Given the description of an element on the screen output the (x, y) to click on. 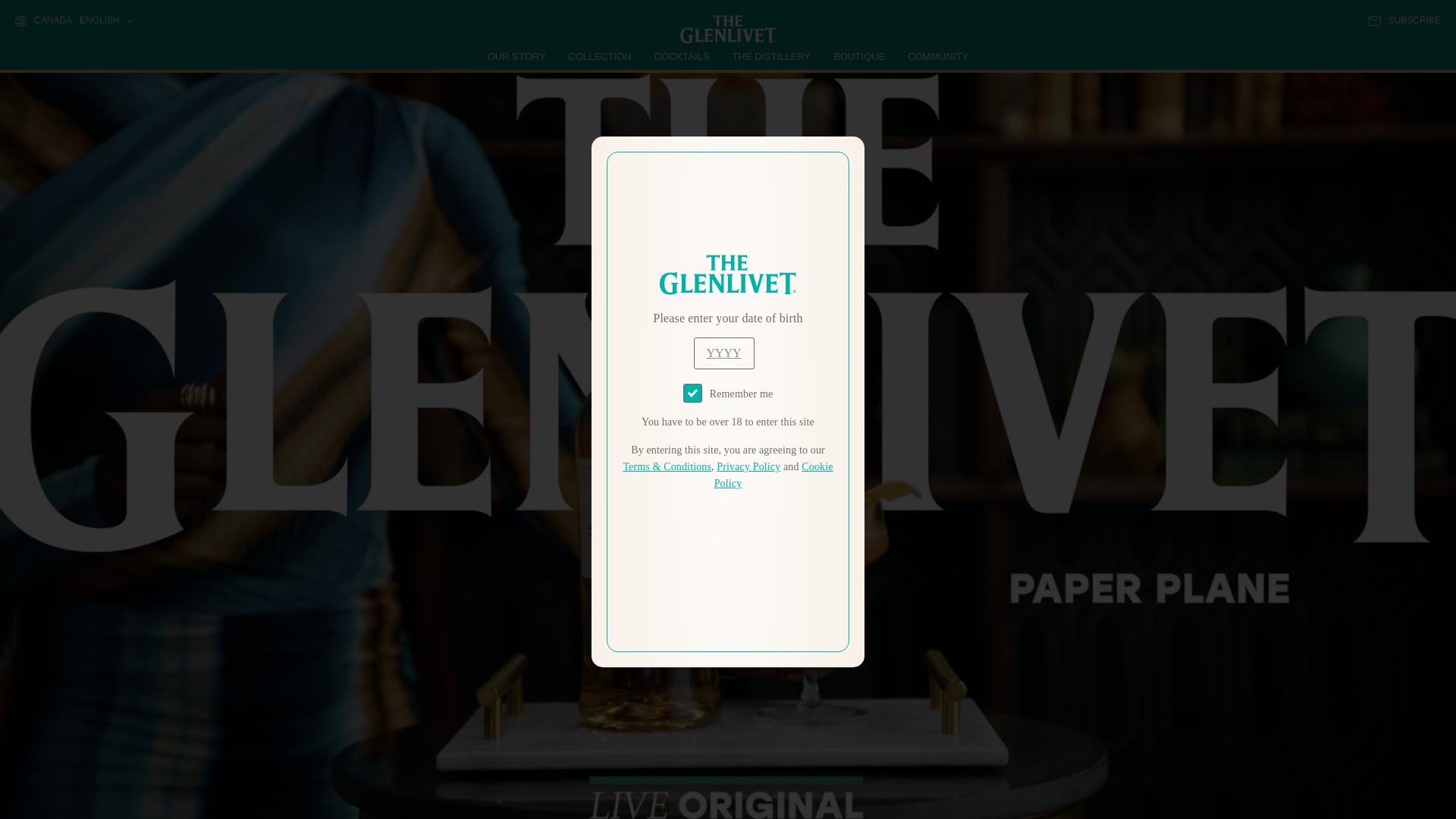
CANADA - ENGLISH (73, 21)
THE DISTILLERY (771, 56)
SUBSCRIBE (1404, 20)
COLLECTION (600, 56)
Privacy Policy (748, 466)
Cookie Policy (773, 474)
BOUTIQUE (858, 56)
year (723, 353)
OUR STORY (516, 56)
COMMUNITY (937, 56)
